Given the description of an element on the screen output the (x, y) to click on. 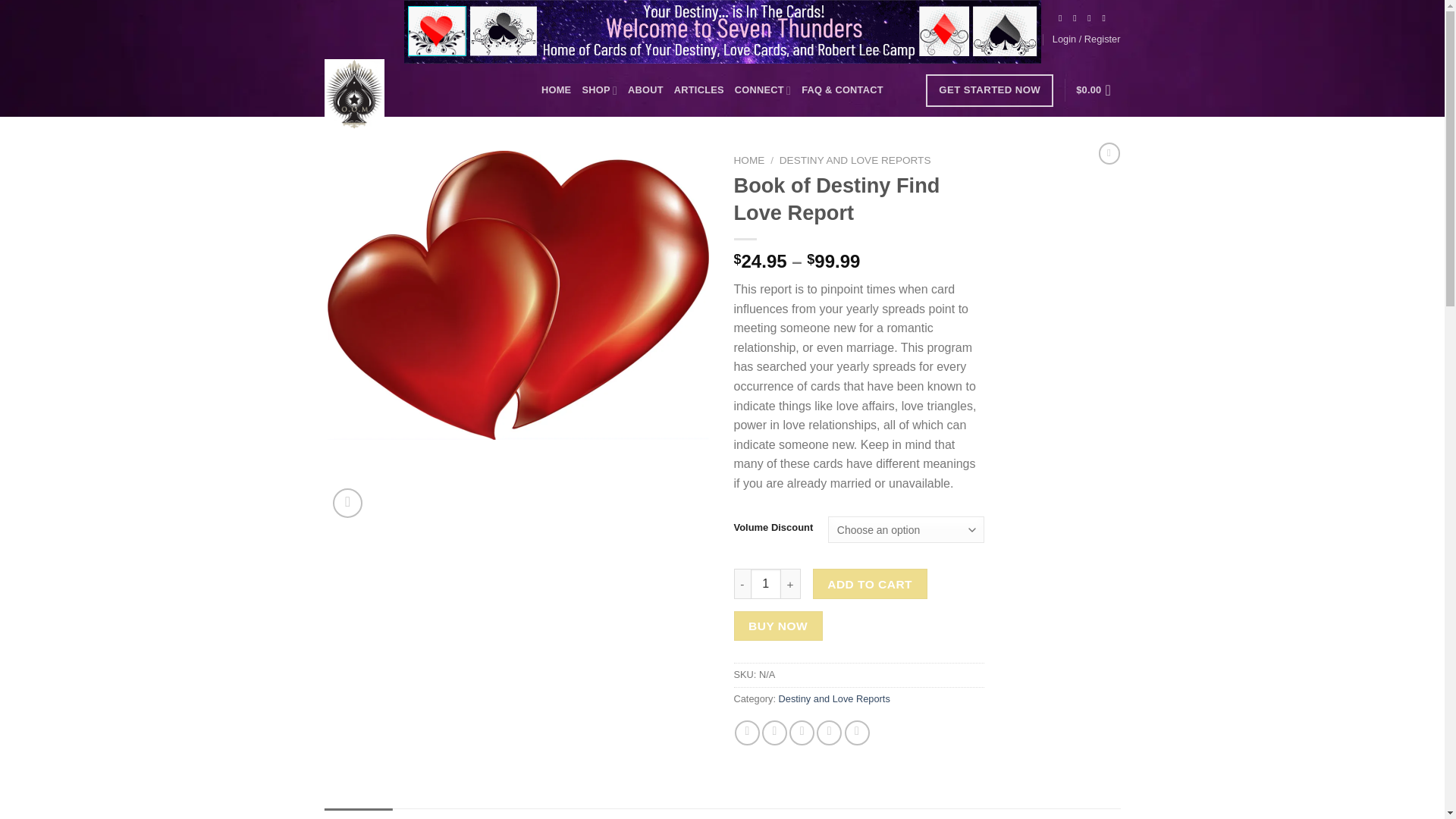
Cart (1097, 90)
SHOP (598, 90)
HOME (555, 90)
ABOUT (645, 90)
Login (1086, 38)
Share on Twitter (774, 732)
1 (765, 583)
Share on Facebook (747, 732)
Zoom (347, 502)
ARTICLES (698, 90)
Seven Thunders Publishing - Your Fate is in the Cards! (400, 93)
CONNECT (762, 90)
